Given the description of an element on the screen output the (x, y) to click on. 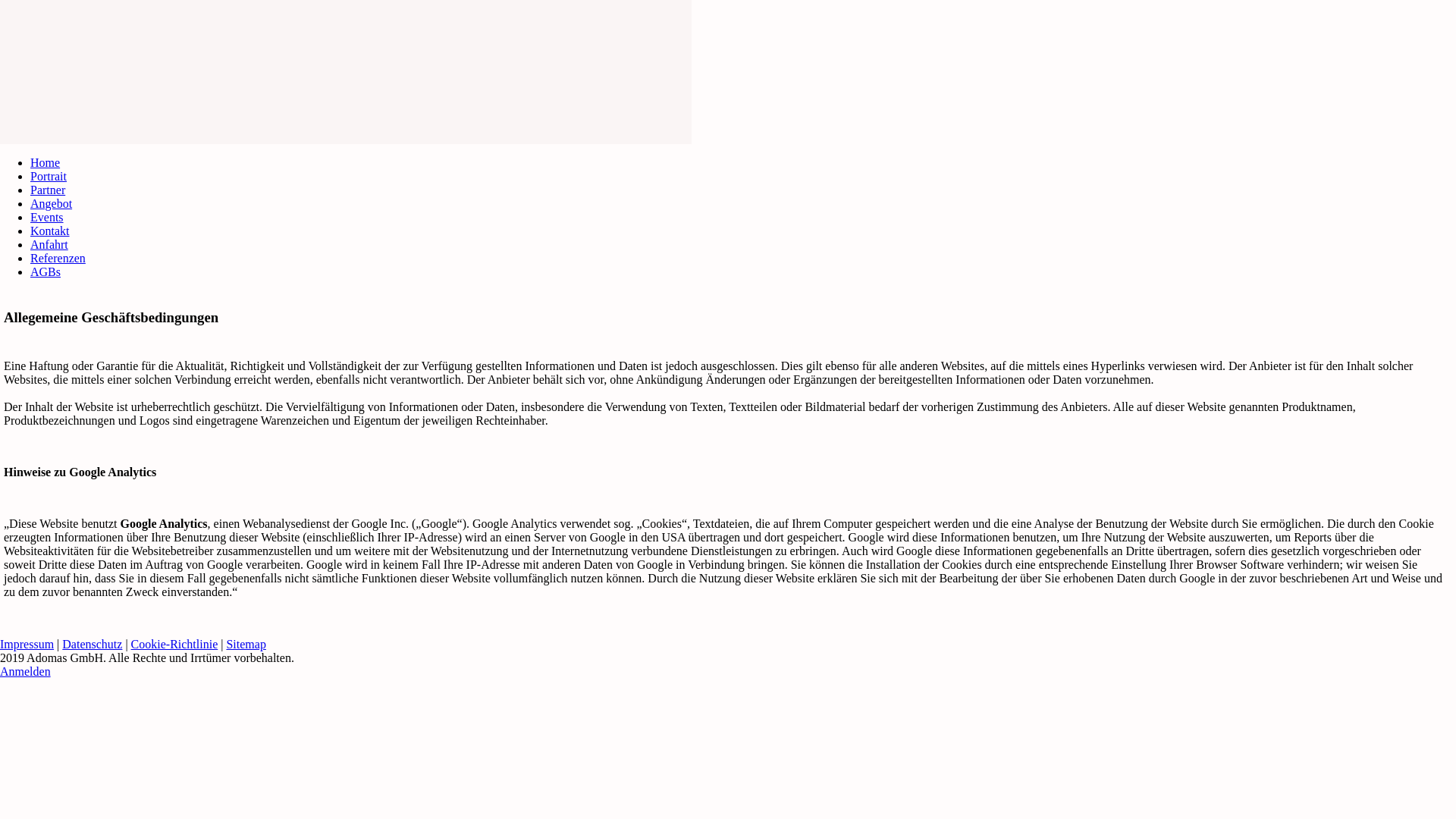
Portrait Element type: text (48, 175)
Home Element type: text (44, 162)
Referenzen Element type: text (57, 257)
Angebot Element type: text (51, 203)
Anmelden Element type: text (25, 671)
Events Element type: text (46, 216)
Sitemap Element type: text (245, 643)
Impressum Element type: text (26, 643)
Anfahrt Element type: text (49, 244)
Partner Element type: text (47, 189)
Datenschutz Element type: text (92, 643)
AGBs Element type: text (45, 271)
Cookie-Richtlinie Element type: text (174, 643)
Kontakt Element type: text (49, 230)
